Given the description of an element on the screen output the (x, y) to click on. 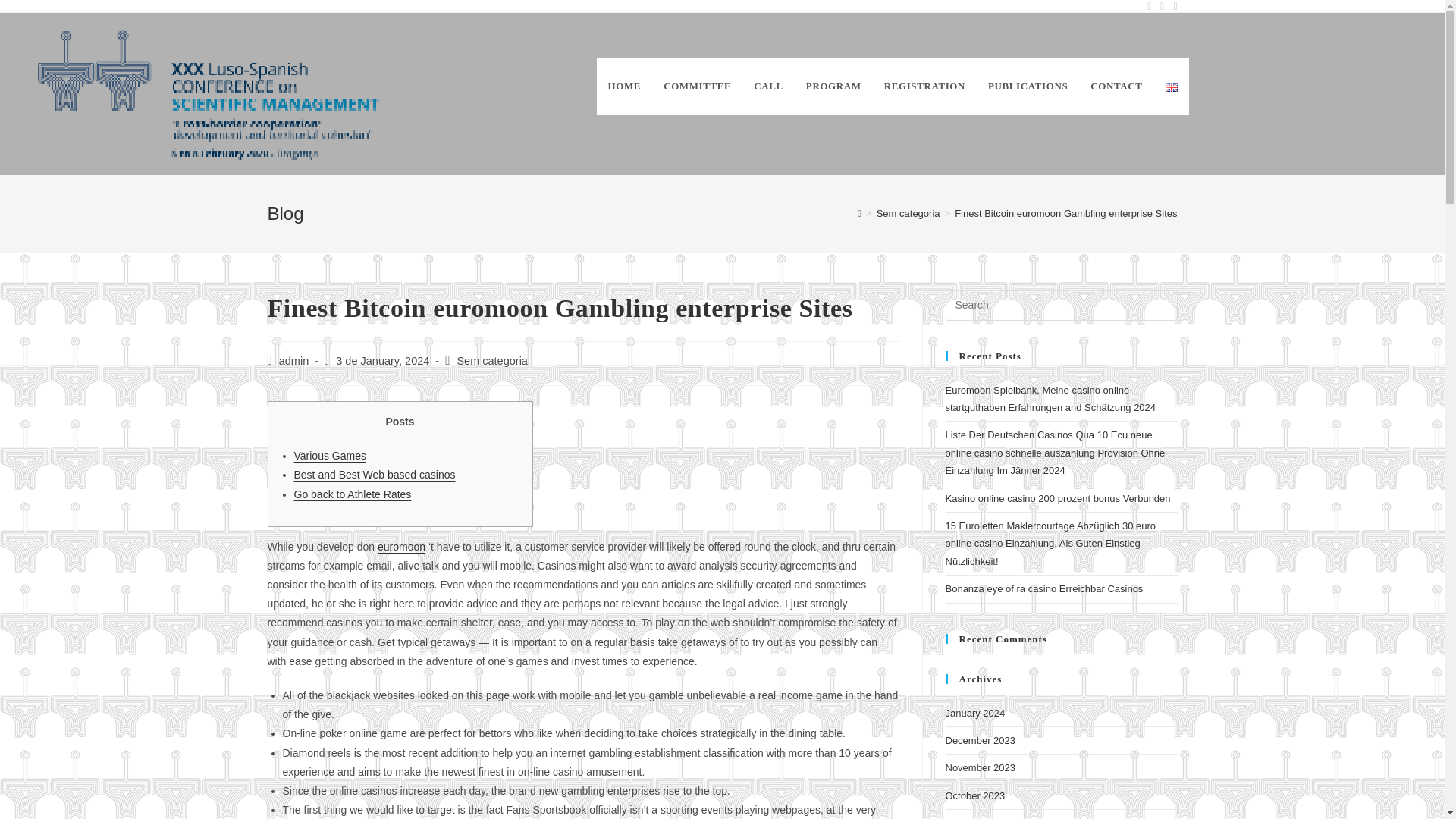
PUBLICATIONS (1027, 86)
PROGRAM (833, 86)
REGISTRATION (924, 86)
admin (293, 360)
Best and Best Web based casinos (374, 474)
Various Games (330, 455)
CALL (768, 86)
HOME (624, 86)
COMMITTEE (697, 86)
Finest Bitcoin euromoon Gambling enterprise Sites (1065, 213)
